Given the description of an element on the screen output the (x, y) to click on. 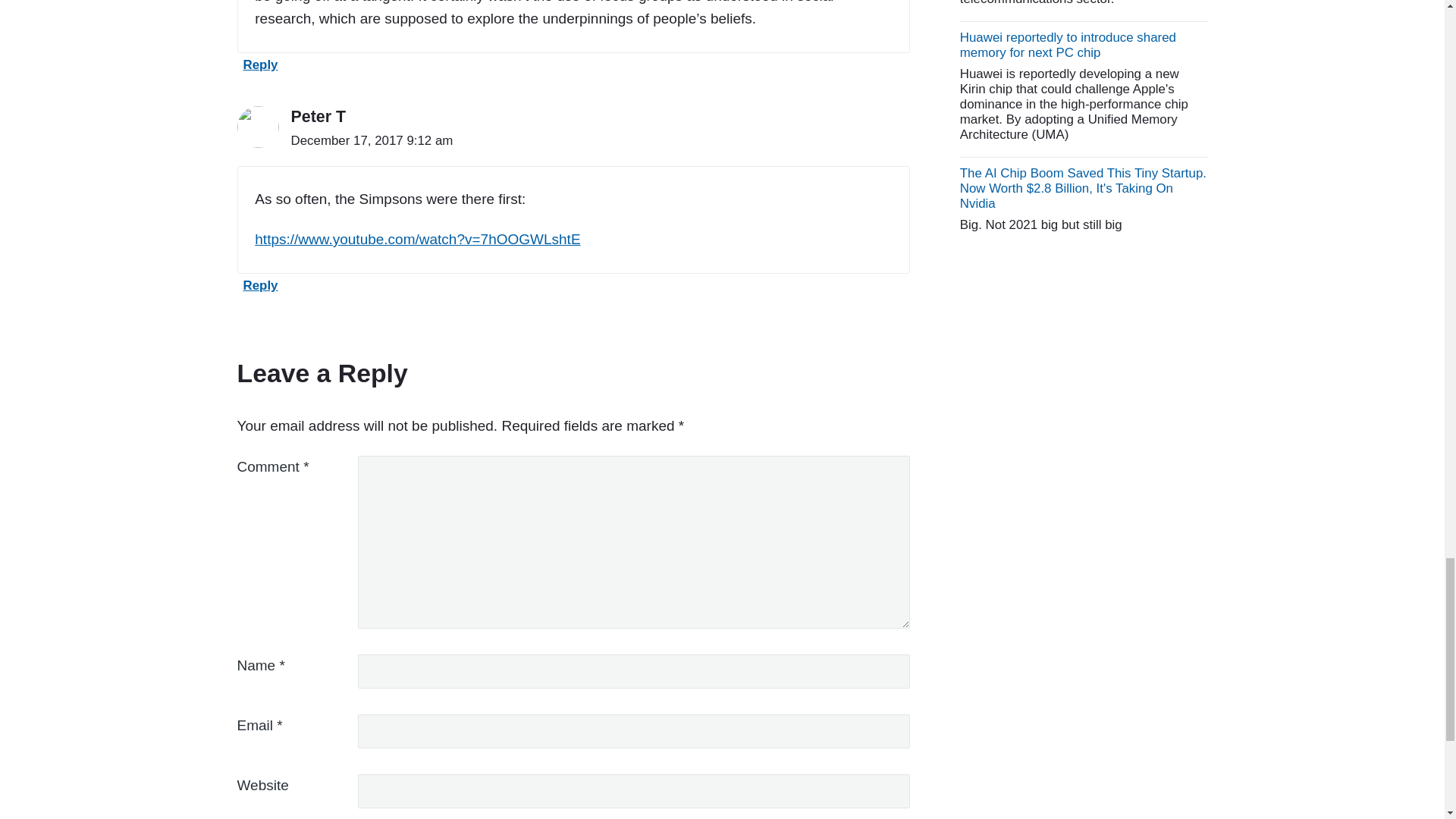
December 17, 2017 9:12 am (371, 139)
Sunday, December 17, 2017, 9:12 am (371, 140)
Reply (256, 68)
Reply (256, 288)
